Given the description of an element on the screen output the (x, y) to click on. 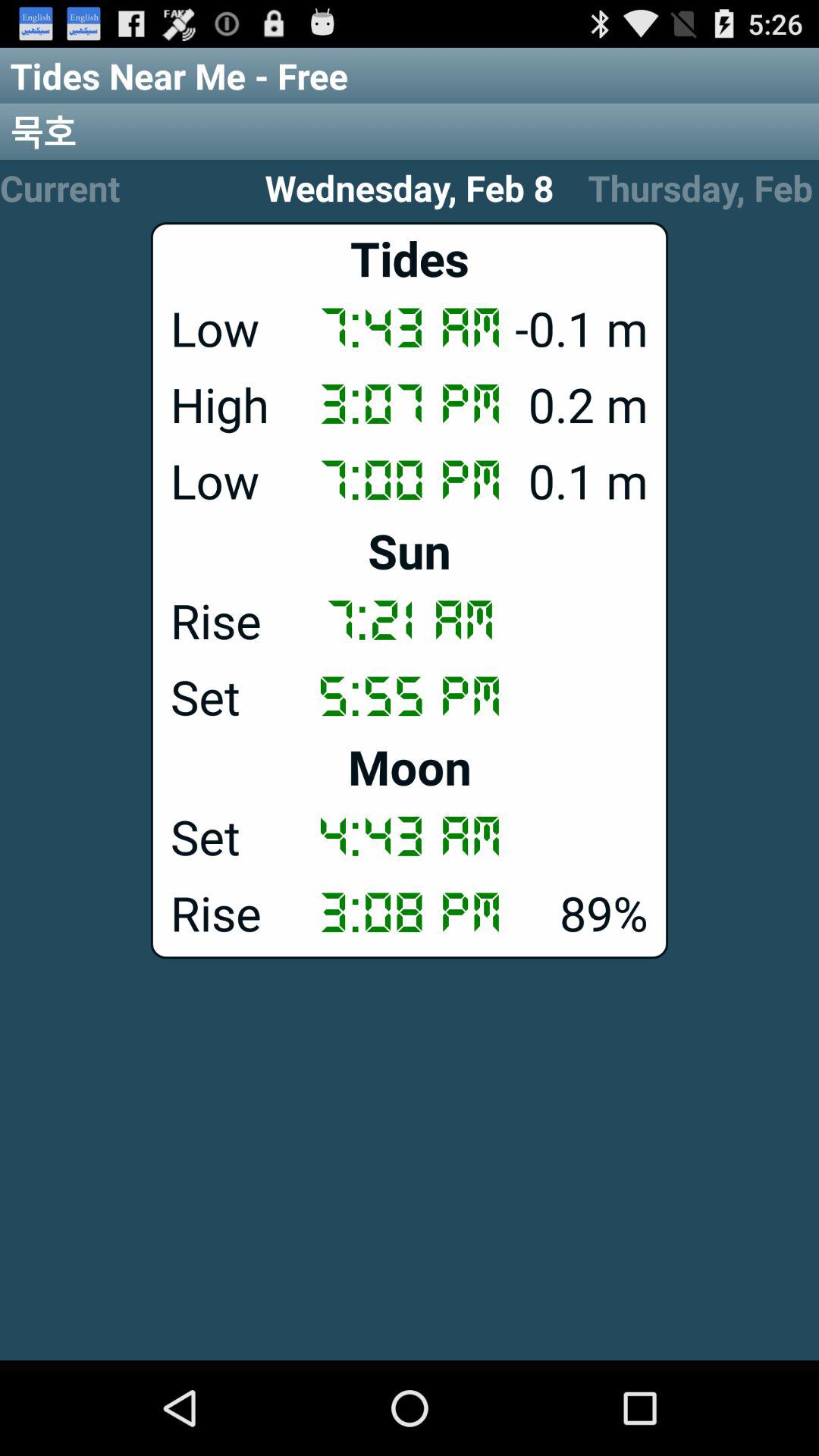
open app above set app (409, 766)
